Given the description of an element on the screen output the (x, y) to click on. 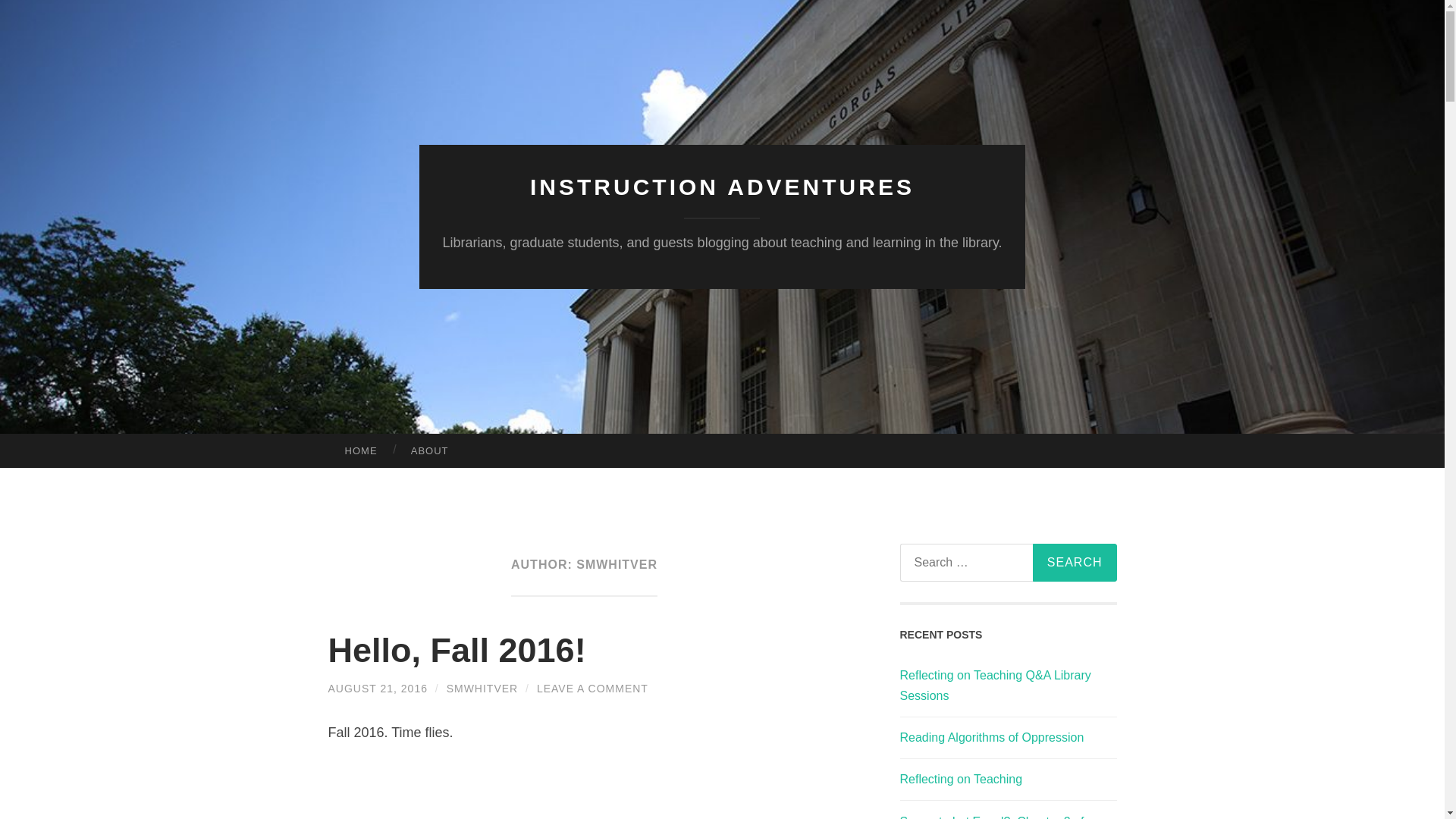
Reflecting on Teaching (960, 779)
INSTRUCTION ADVENTURES (721, 186)
Search (1074, 562)
ABOUT (429, 451)
Separate but Equal?: Chapter 2 of Academic Ableism (991, 816)
HOME (360, 451)
Reading Algorithms of Oppression (991, 737)
SKIP TO CONTENT (16, 445)
Search (1074, 562)
Hello, Fall 2016! (456, 649)
SMWHITVER (482, 688)
Search (1074, 562)
LEAVE A COMMENT (592, 688)
